Given the description of an element on the screen output the (x, y) to click on. 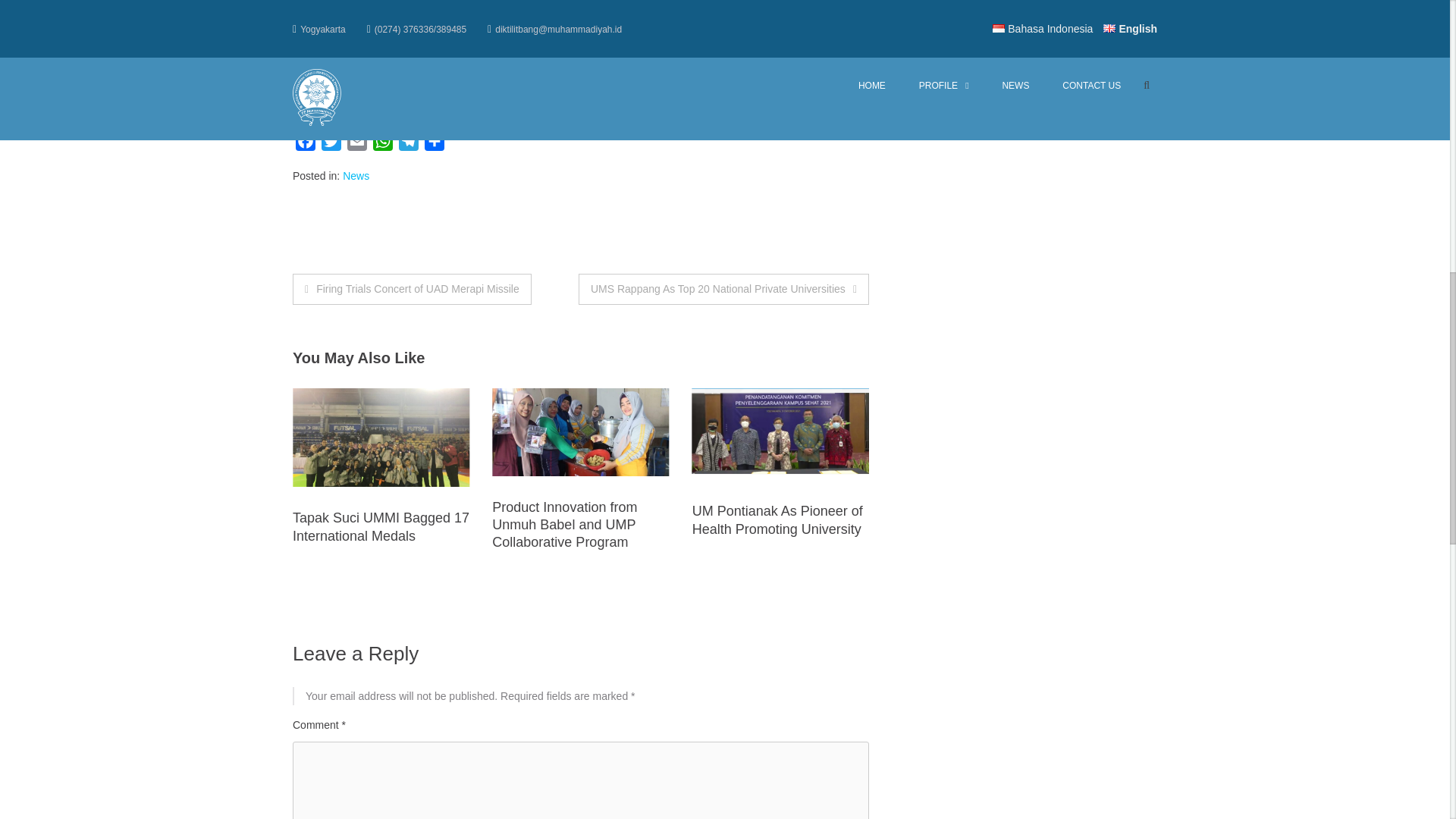
Facebook (305, 144)
UMS Rappang As Top 20 National Private Universities (723, 288)
Twitter (330, 144)
The achievement (333, 37)
Tapak Suci UMMI Bagged 17 International Medals (380, 526)
Telegram (409, 144)
News (355, 175)
Telegram (409, 144)
Email (356, 144)
WhatsApp (382, 144)
UMY (752, 110)
Facebook (305, 144)
Twitter (330, 144)
Firing Trials Concert of UAD Merapi Missile (411, 288)
